Given the description of an element on the screen output the (x, y) to click on. 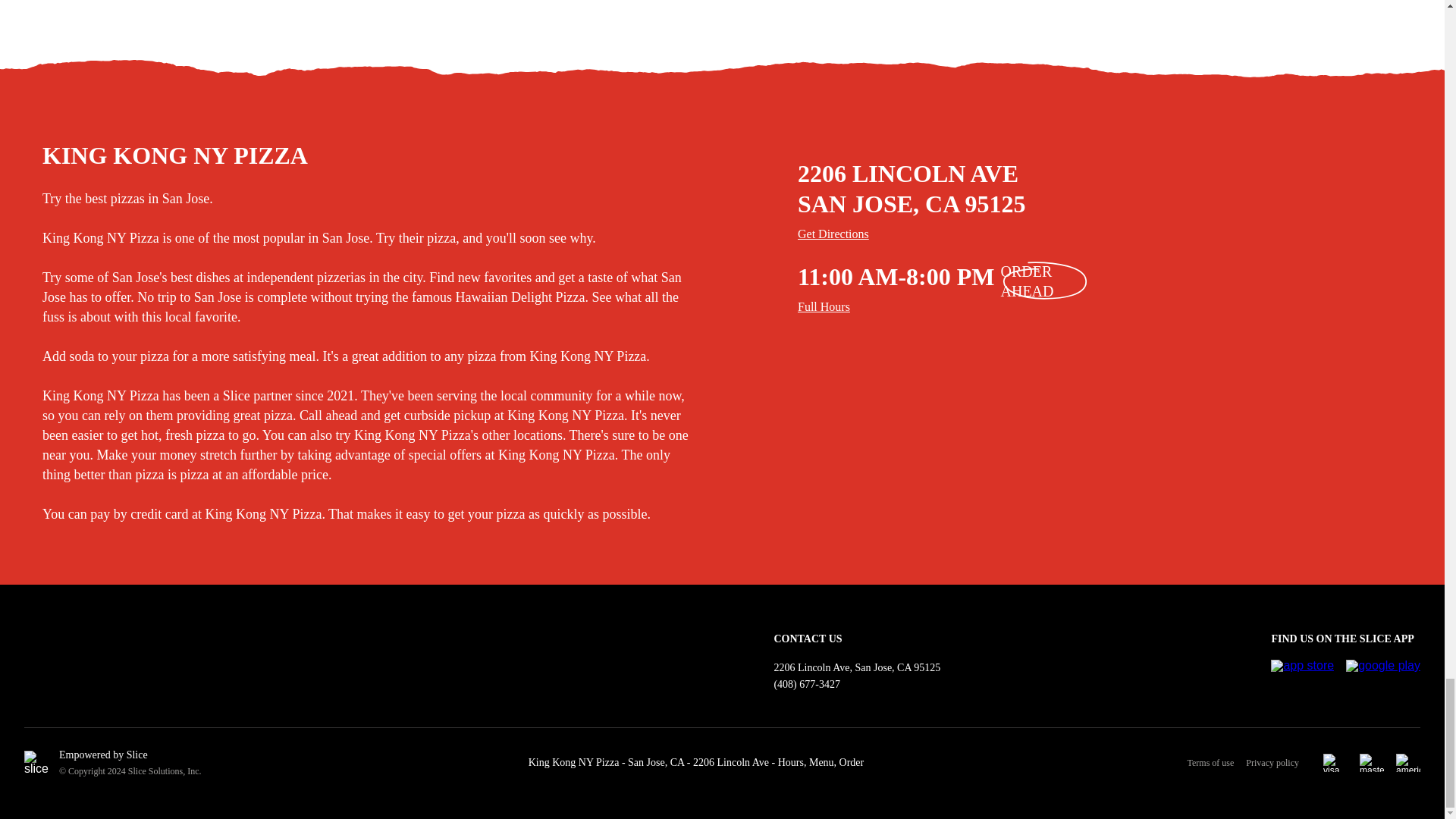
Privacy policy (1272, 762)
Get Directions (1119, 234)
Terms of use (1217, 762)
